Given the description of an element on the screen output the (x, y) to click on. 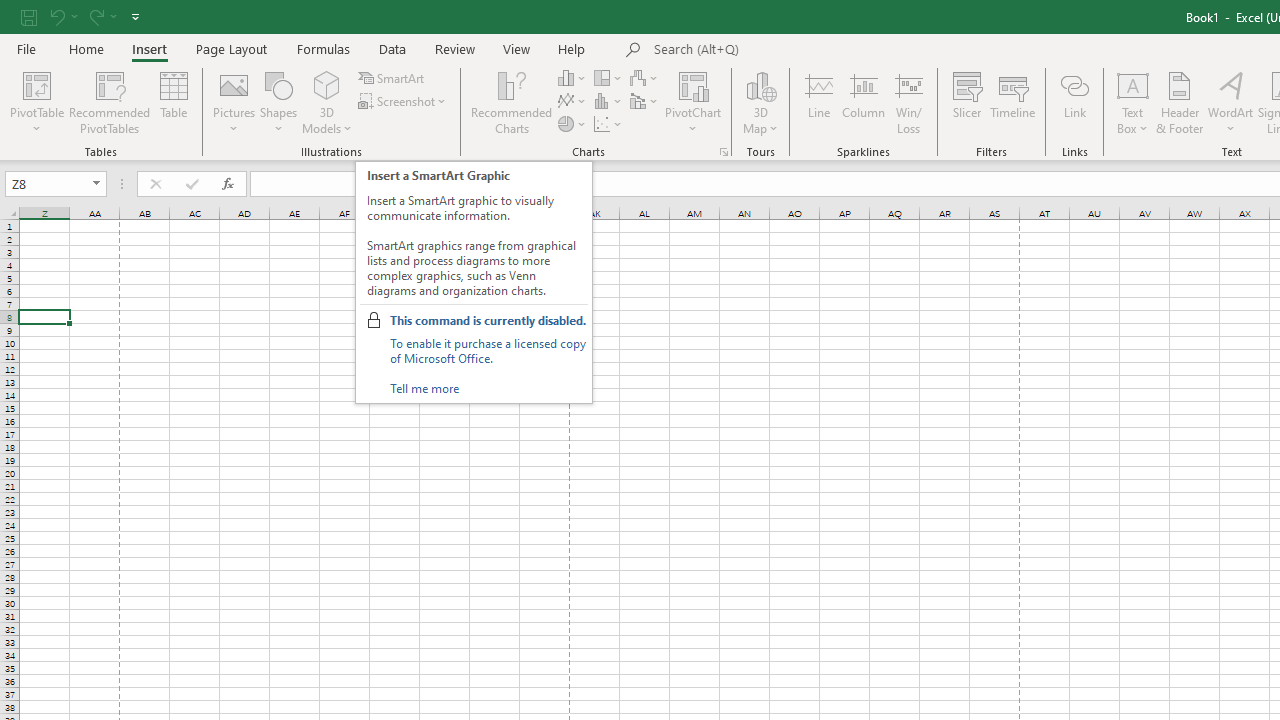
This command is currently disabled. (487, 320)
Class: NetUIImage (373, 319)
Insert Combo Chart (645, 101)
Redo (102, 15)
Insert Column or Bar Chart (573, 78)
Review (454, 48)
Timeline (1013, 102)
Link (1074, 102)
PivotChart (693, 84)
Undo (62, 15)
Help (572, 48)
Pictures (234, 102)
3D Map (760, 102)
Data (392, 48)
Open (96, 183)
